Given the description of an element on the screen output the (x, y) to click on. 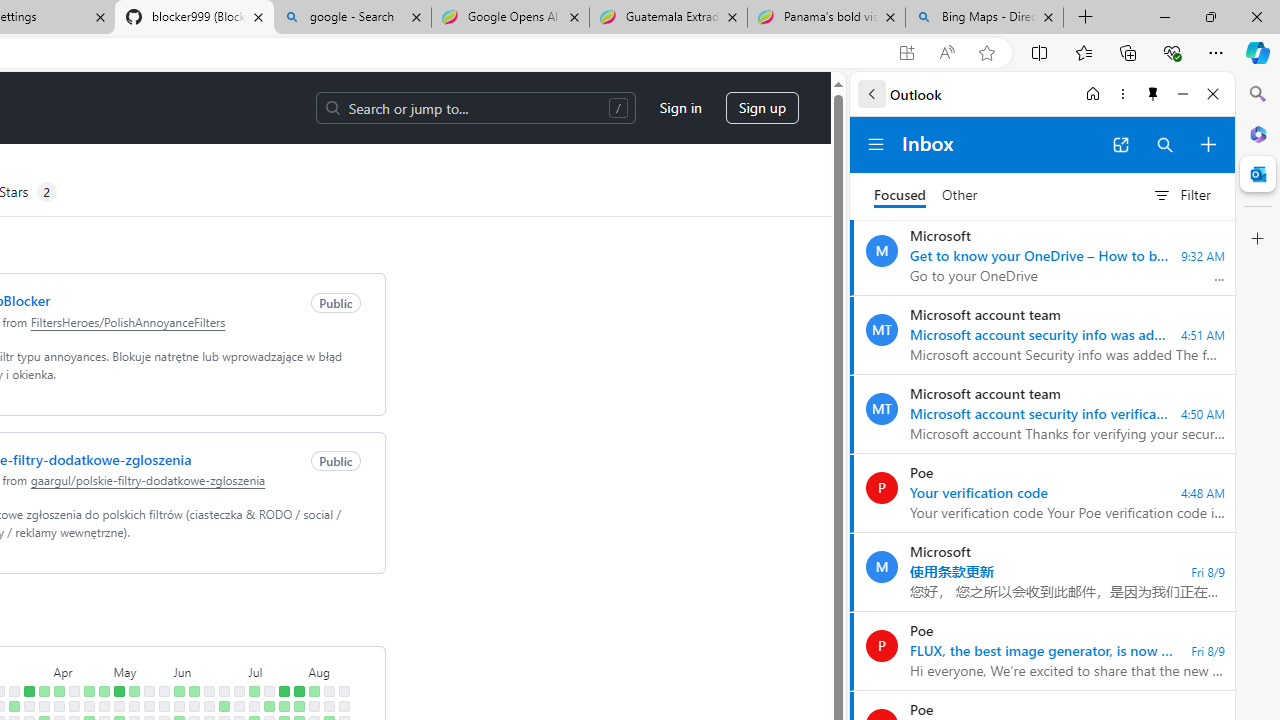
Browser essentials (1171, 52)
1 contribution on March 31st. (43, 691)
Folder navigation (876, 144)
Close tab (1048, 16)
Filter (1181, 195)
Favorites (1083, 52)
Close (1213, 93)
No contributions on April 14th. (73, 691)
No contributions on March 17th. (13, 691)
Back (871, 93)
No contributions on March 25th. (28, 706)
No contributions on April 1st. (43, 706)
Search (1258, 94)
No contributions on June 30th. (238, 691)
5 contributions on April 7th. (58, 691)
